Given the description of an element on the screen output the (x, y) to click on. 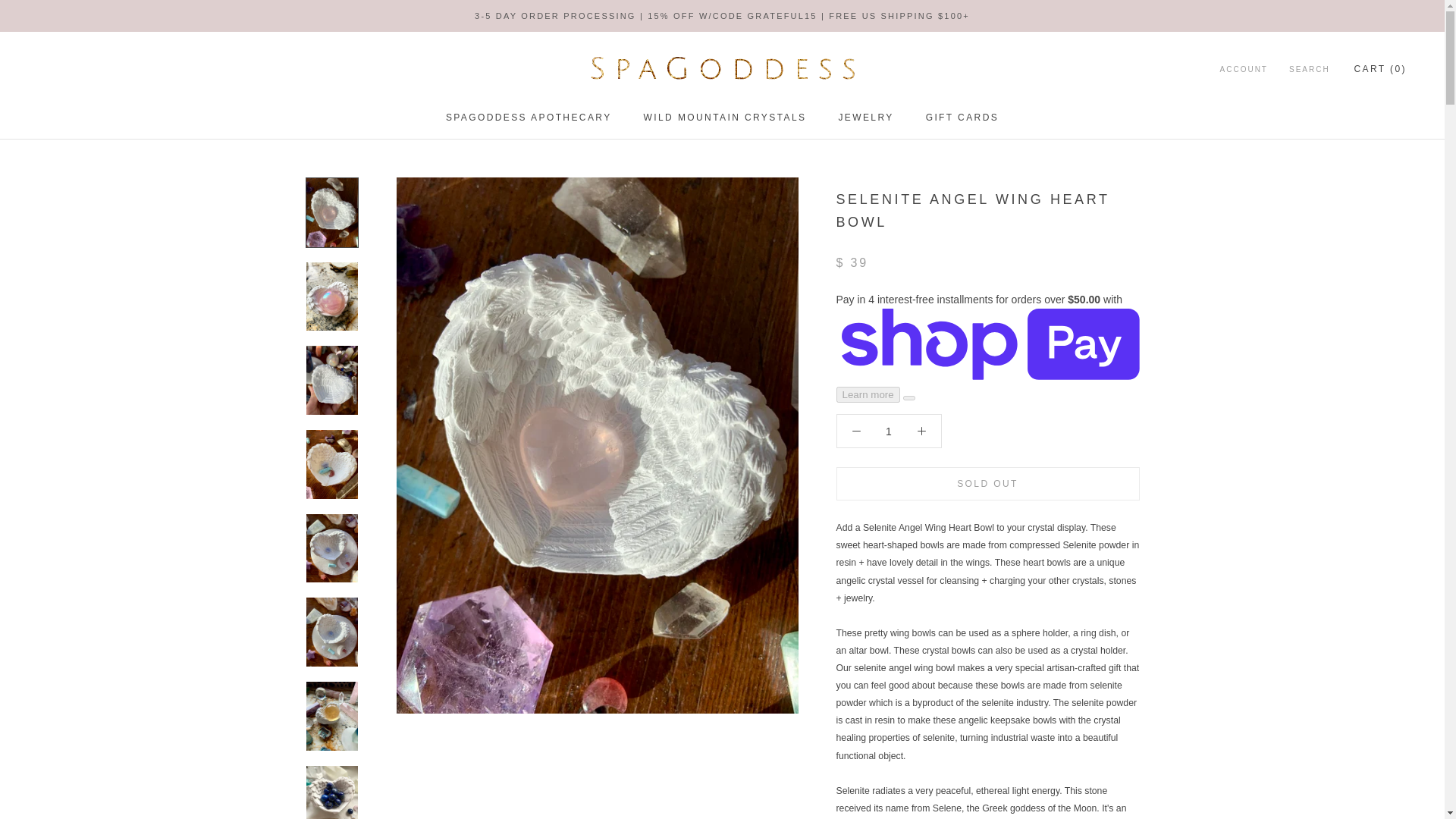
1 (888, 431)
